Given the description of an element on the screen output the (x, y) to click on. 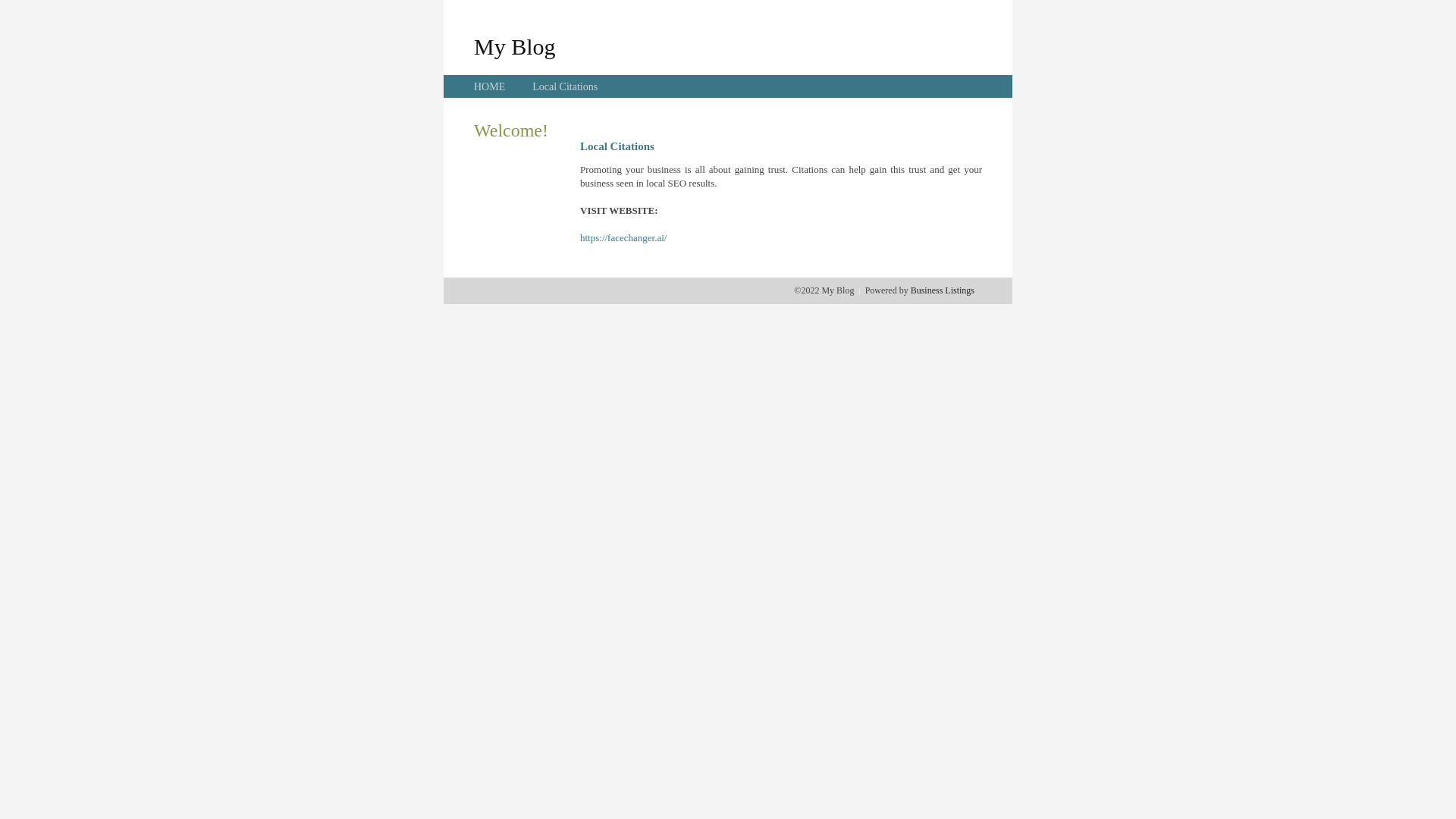
https://facechanger.ai/ Element type: text (623, 237)
My Blog Element type: text (514, 46)
Local Citations Element type: text (564, 86)
Business Listings Element type: text (942, 290)
HOME Element type: text (489, 86)
